Given the description of an element on the screen output the (x, y) to click on. 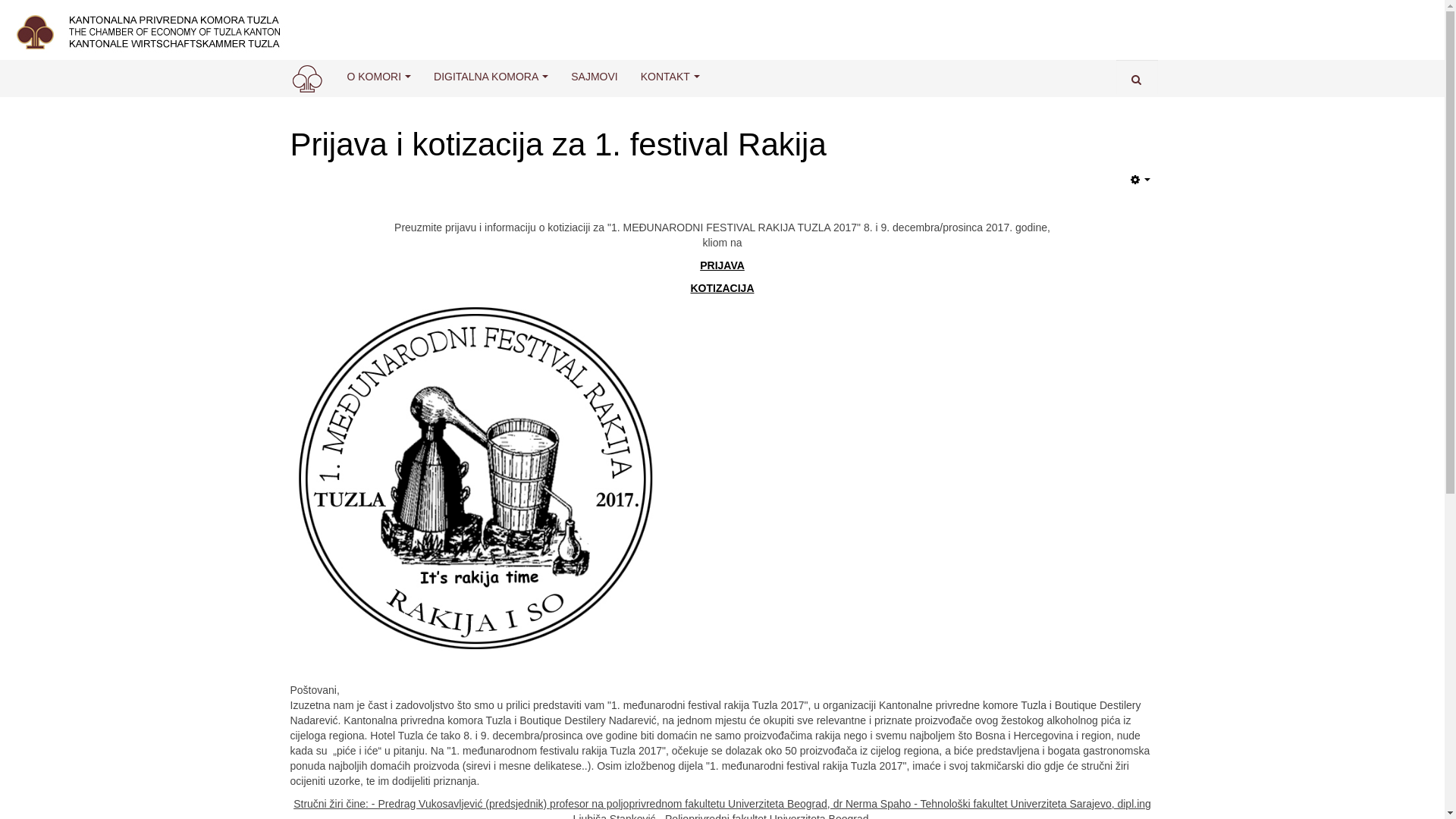
PRIJAVA Element type: text (721, 265)
SAJMOVI Element type: text (594, 76)
KONTAKT Element type: text (669, 76)
Kantonalna privredna komora Tuzla Element type: hover (306, 76)
DIGITALNA KOMORA Element type: text (490, 76)
Prijava i kotizacija za 1. festival Rakija Element type: text (557, 144)
KOTIZACIJA Element type: text (721, 288)
O KOMORI Element type: text (379, 76)
